Given the description of an element on the screen output the (x, y) to click on. 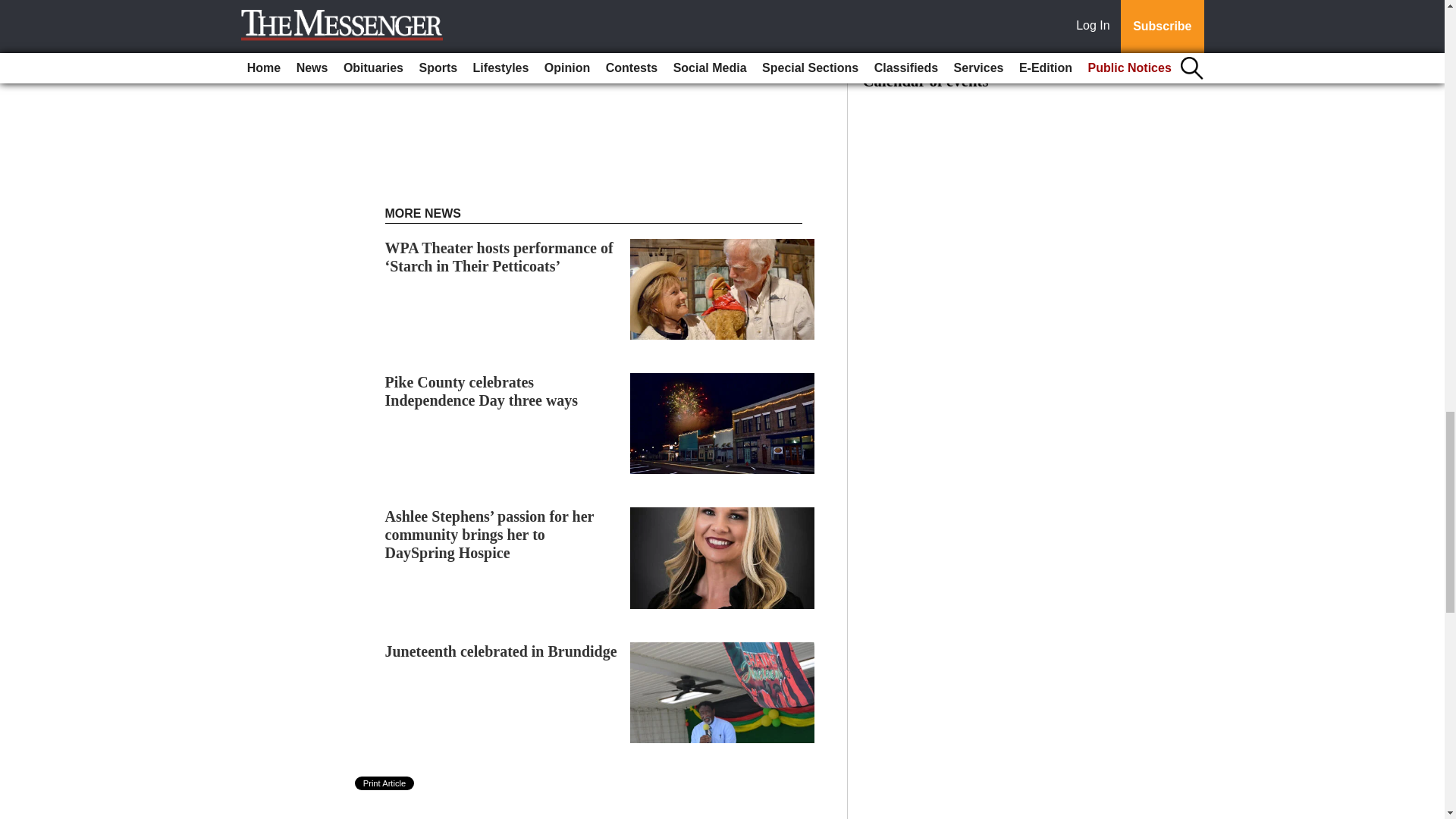
Pike County celebrates  Independence  Day three ways (481, 390)
Juneteenth celebrated in Brundidge (501, 651)
